Given the description of an element on the screen output the (x, y) to click on. 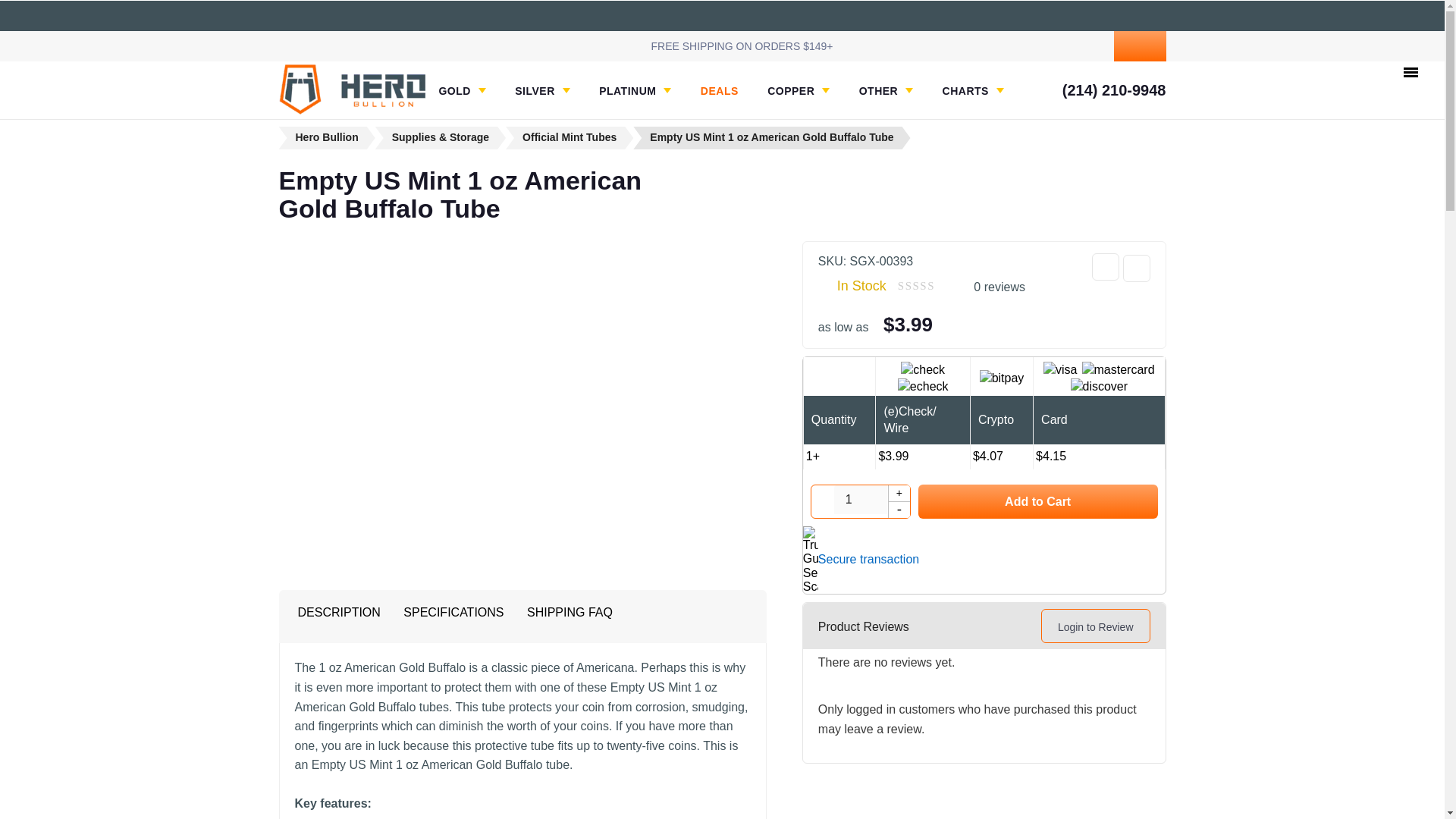
1 (860, 499)
Minus Quantity (899, 509)
Plus Quantity (899, 493)
Search (1026, 46)
GOLD (461, 91)
Share (1105, 266)
Cart (1139, 46)
Compare (1136, 267)
SILVER (542, 91)
